Given the description of an element on the screen output the (x, y) to click on. 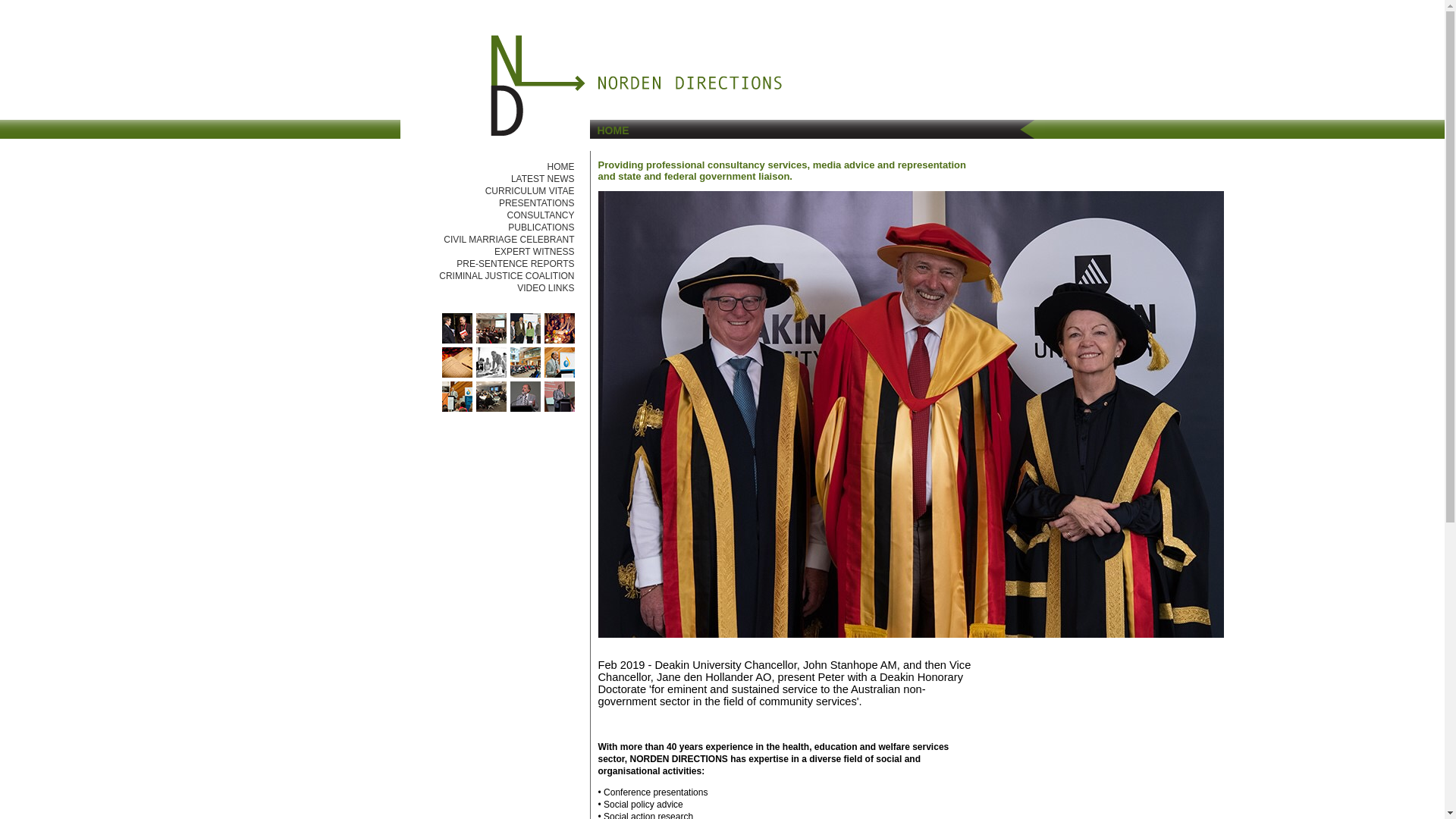
Marriage Certificate Element type: hover (559, 340)
VIDEO LINKS Element type: text (545, 287)
Coach Conference Frankston Element type: hover (491, 340)
CRIMINAL JUSTICE COALITION Element type: text (506, 275)
CIVIL MARRIAGE CELEBRANT Element type: text (508, 239)
Facing the Marriage Element type: hover (491, 374)
Northern Mallee Leaders Forum Element type: hover (491, 408)
Victorian Legal Aid Keynote Element type: hover (559, 408)
Coach Conference Element type: hover (524, 340)
Marriage Register Element type: hover (456, 374)
PUBLICATIONS Element type: text (541, 227)
EXPERT WITNESS Element type: text (534, 251)
CONSULTANCY Element type: text (540, 215)
CURRICULUM VITAE Element type: text (529, 190)
Bill Shorten and Peter Norden Element type: hover (456, 340)
PRESENTATIONS Element type: text (536, 202)
Victorian Legal Aid Keynote Element type: hover (524, 408)
HOME Element type: text (560, 166)
LATEST NEWS Element type: text (542, 178)
PRE-SENTENCE REPORTS Element type: text (515, 263)
